Given the description of an element on the screen output the (x, y) to click on. 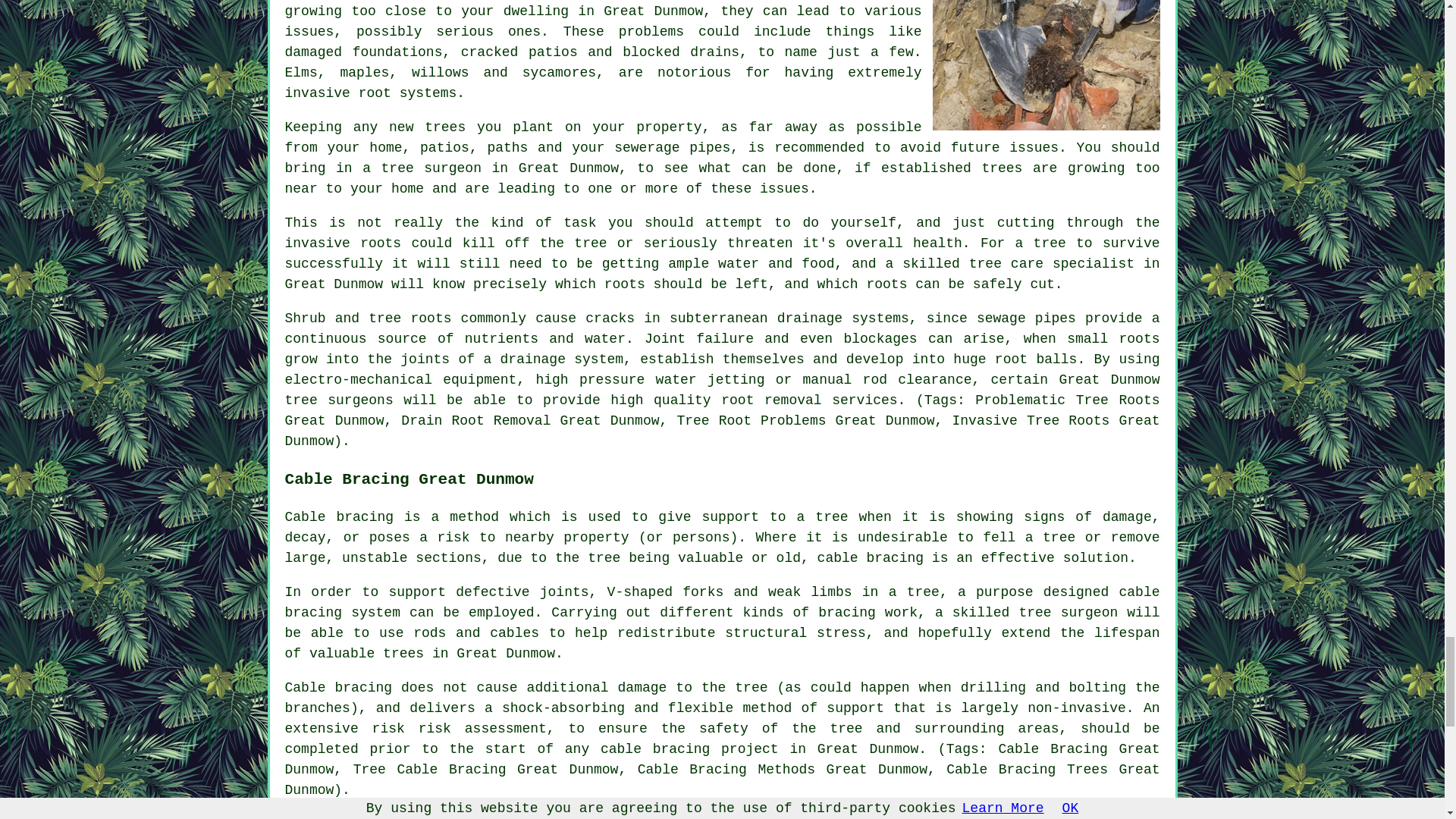
Invasive Tree Roots Great Dunmow Essex (1046, 65)
